Given the description of an element on the screen output the (x, y) to click on. 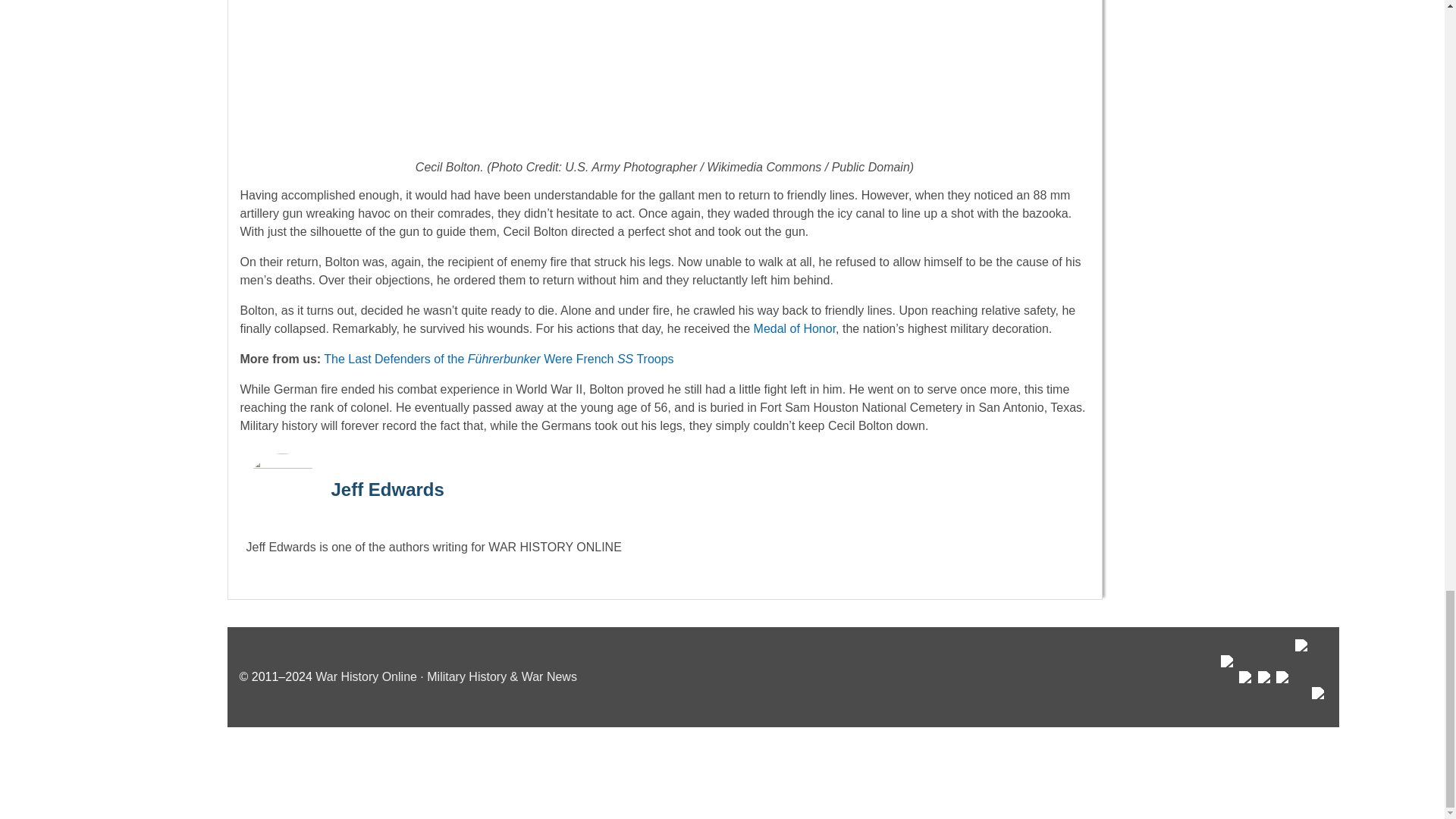
The Vintage News (1228, 684)
I Love WWII Planes (1302, 676)
Outdoor Revival (1246, 692)
Tank Roar (1283, 692)
Abandoned Spaces (1264, 692)
